Given the description of an element on the screen output the (x, y) to click on. 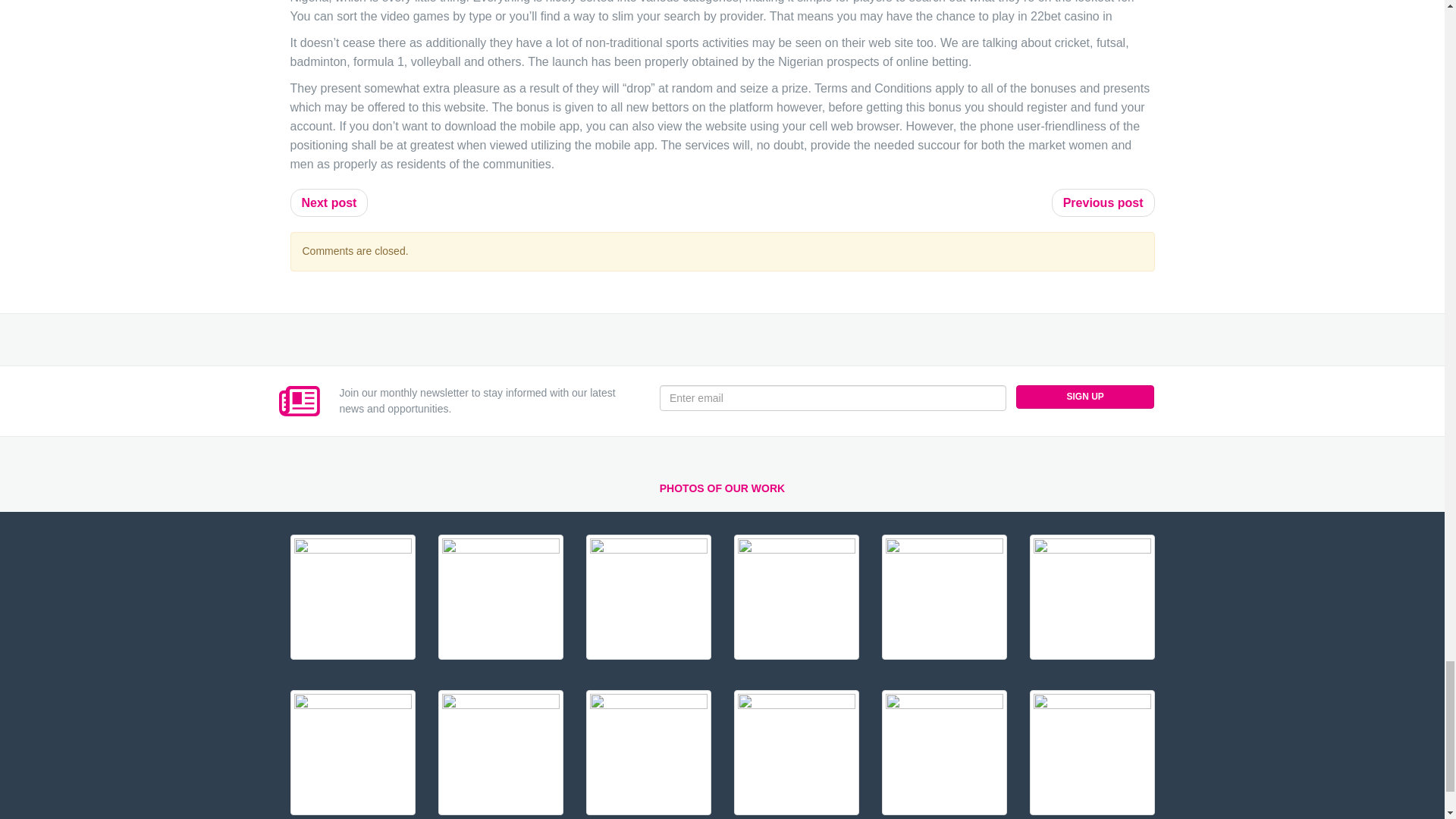
SIGN UP (1085, 396)
Previous post (1102, 203)
Next post (328, 203)
